Given the description of an element on the screen output the (x, y) to click on. 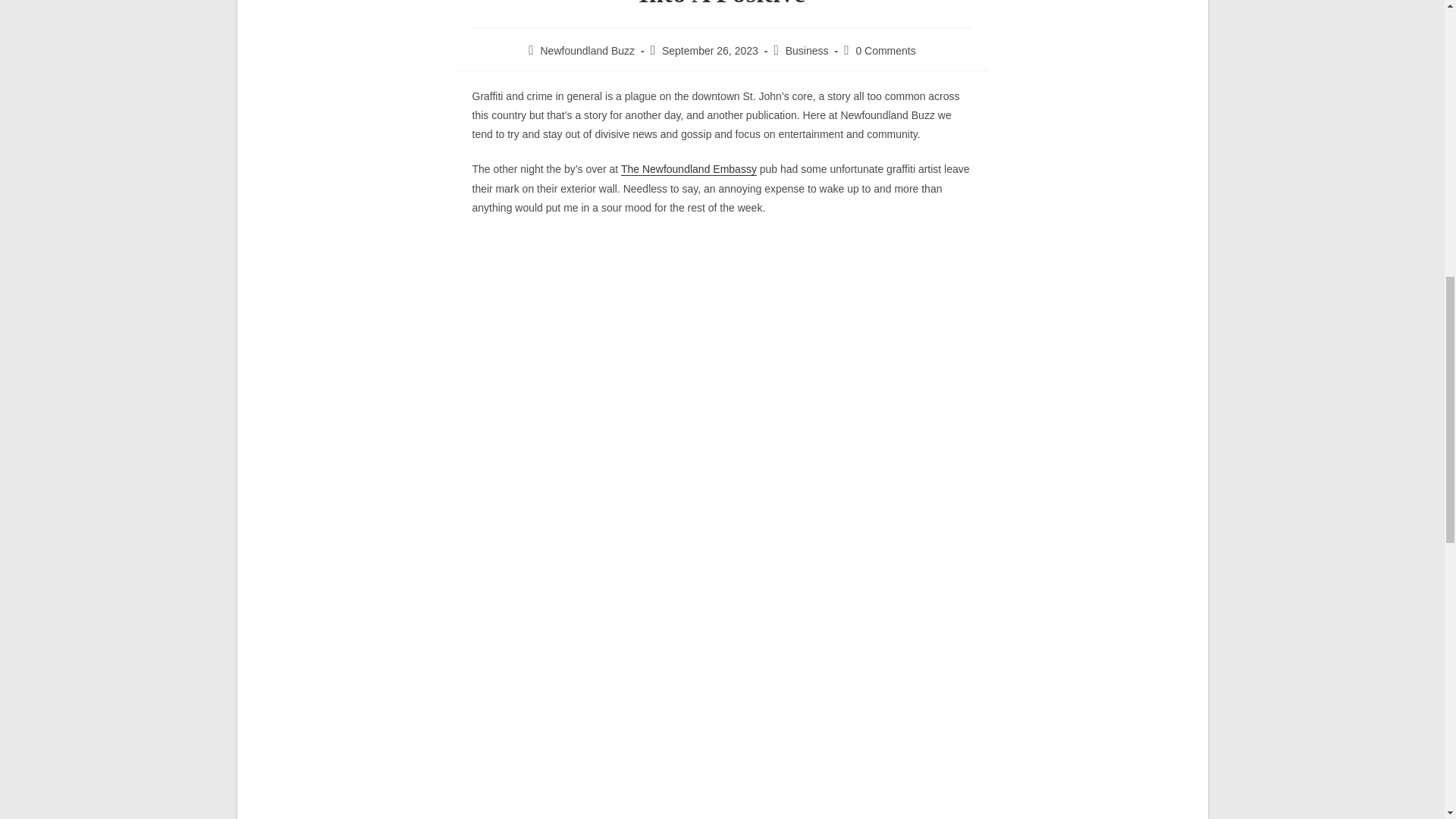
0 Comments (885, 50)
Business (807, 50)
The Newfoundland Embassy (689, 168)
Posts by Newfoundland Buzz (587, 50)
Newfoundland Buzz (587, 50)
